Given the description of an element on the screen output the (x, y) to click on. 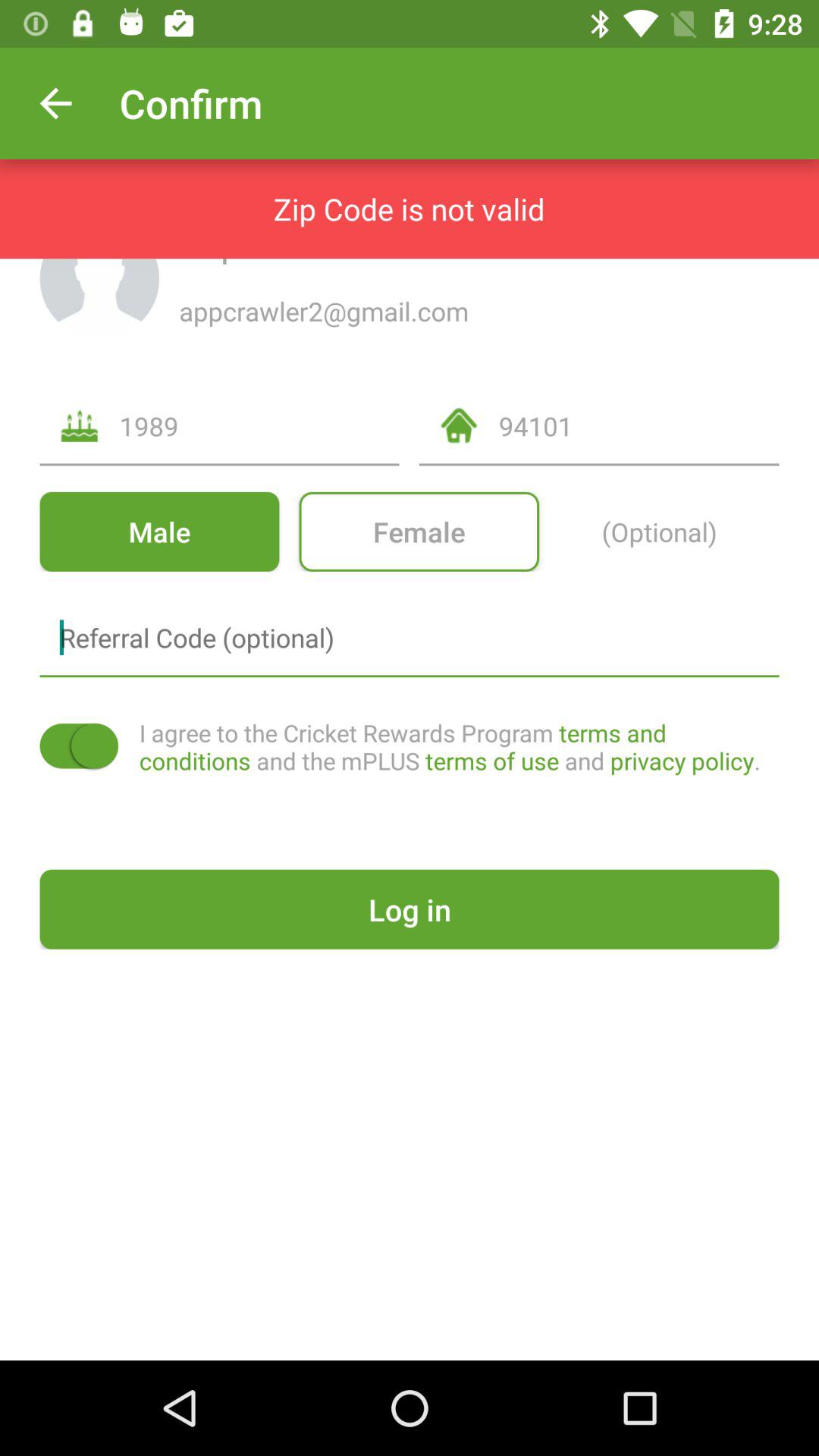
click the item to the left of the (optional) icon (419, 531)
